Given the description of an element on the screen output the (x, y) to click on. 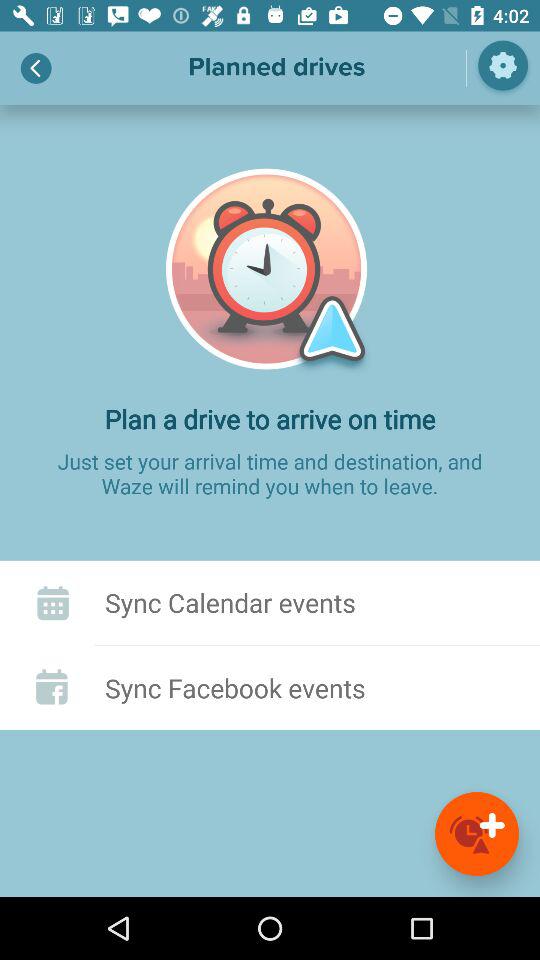
back (36, 67)
